Given the description of an element on the screen output the (x, y) to click on. 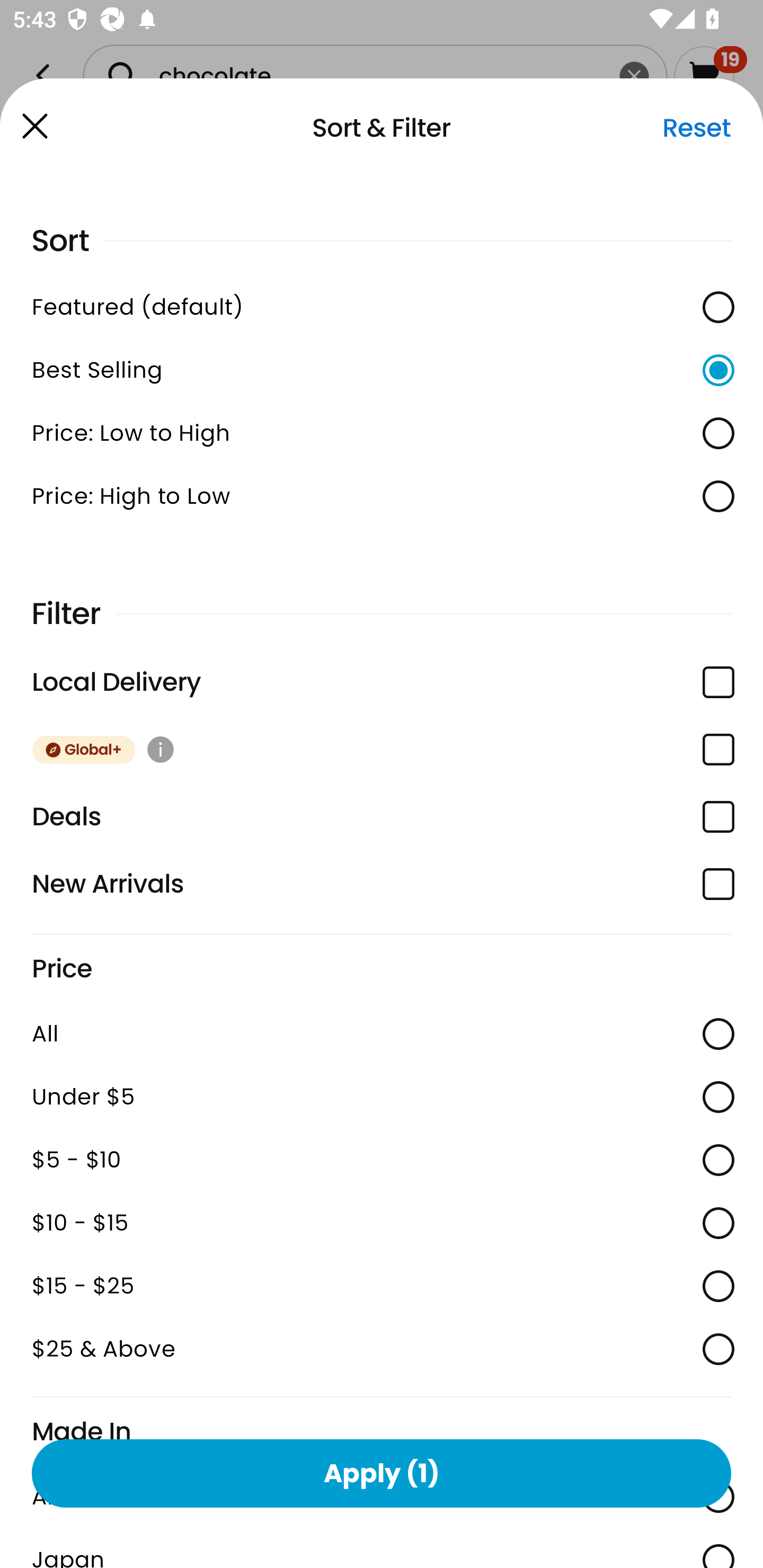
Reset (696, 127)
Apply (1) (381, 1472)
